Given the description of an element on the screen output the (x, y) to click on. 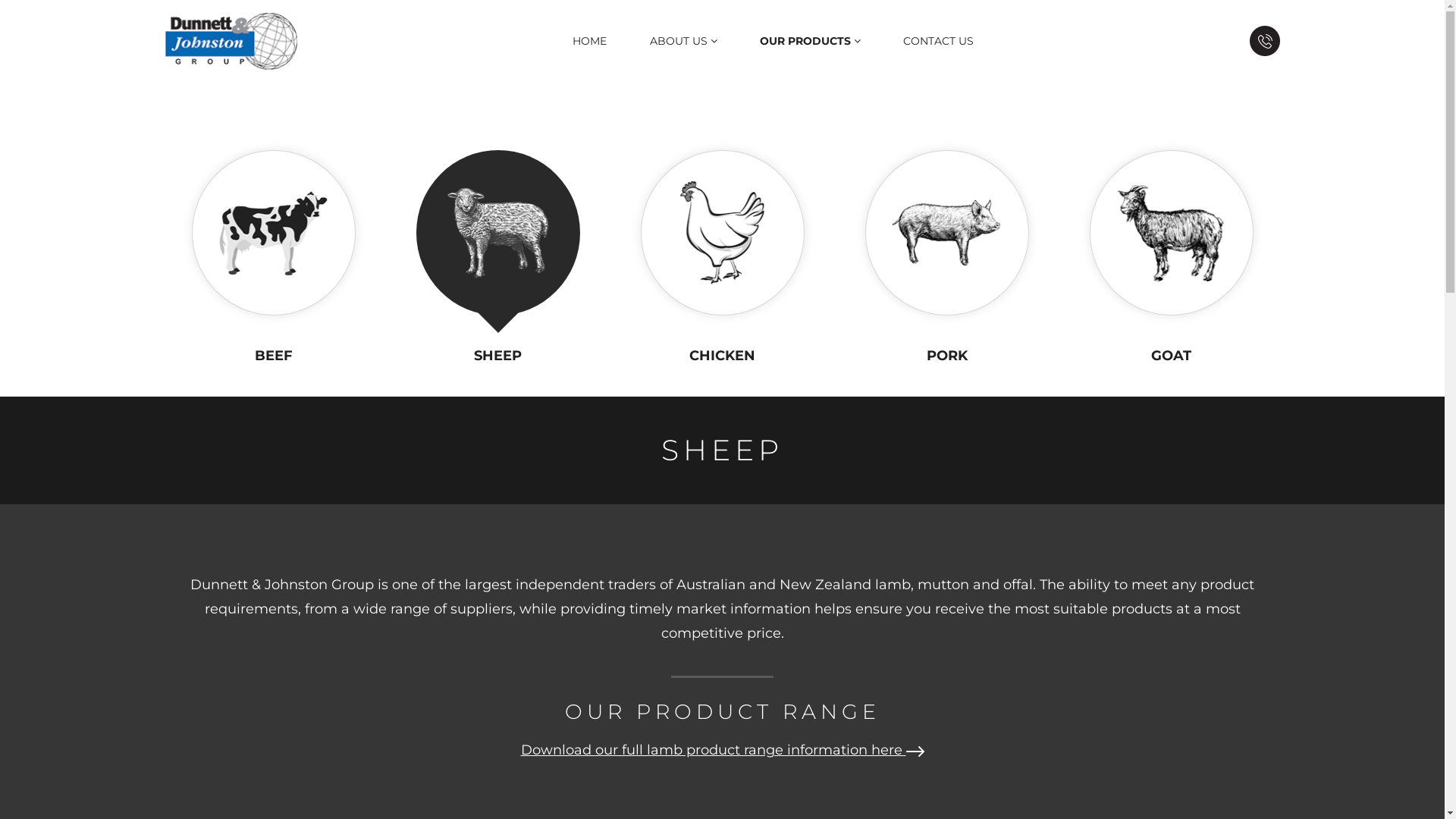
CHICKEN Element type: text (722, 355)
Download our full lamb product range information here Element type: text (721, 749)
CONTACT US Element type: text (938, 40)
PORK Element type: text (946, 355)
SHEEP Element type: text (497, 355)
HOME Element type: text (589, 40)
BEEF Element type: text (273, 355)
ABOUT US Element type: text (683, 40)
OUR PRODUCTS Element type: text (810, 40)
GOAT Element type: text (1171, 355)
